Given the description of an element on the screen output the (x, y) to click on. 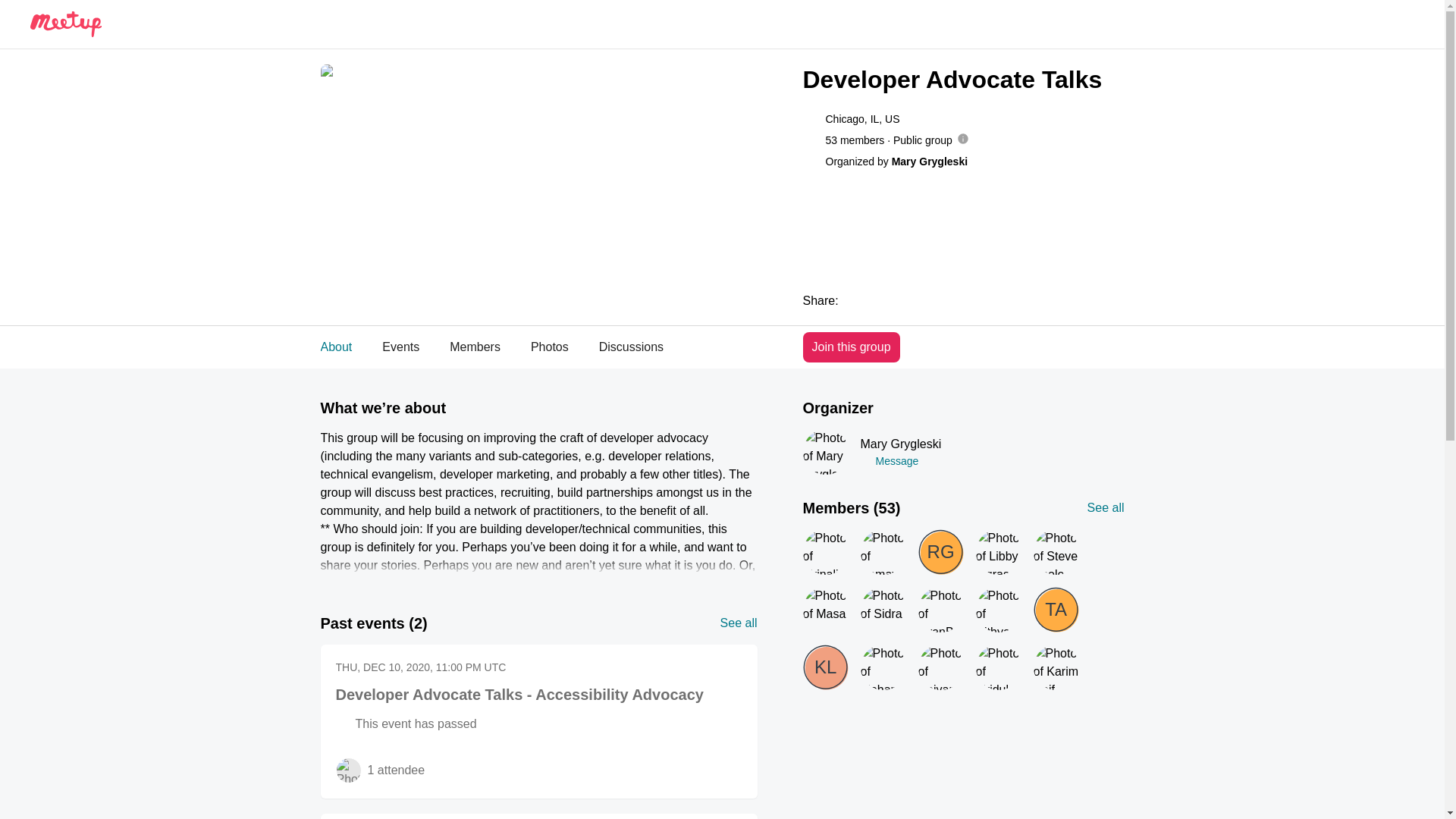
TA (1055, 609)
Organized by Mary Grygleski (896, 160)
Email (949, 300)
See all (738, 623)
LinkedIn (924, 300)
RG (939, 551)
Chicago, IL, US (862, 118)
Developer Advocate Talks (963, 79)
Facebook (876, 300)
